Given the description of an element on the screen output the (x, y) to click on. 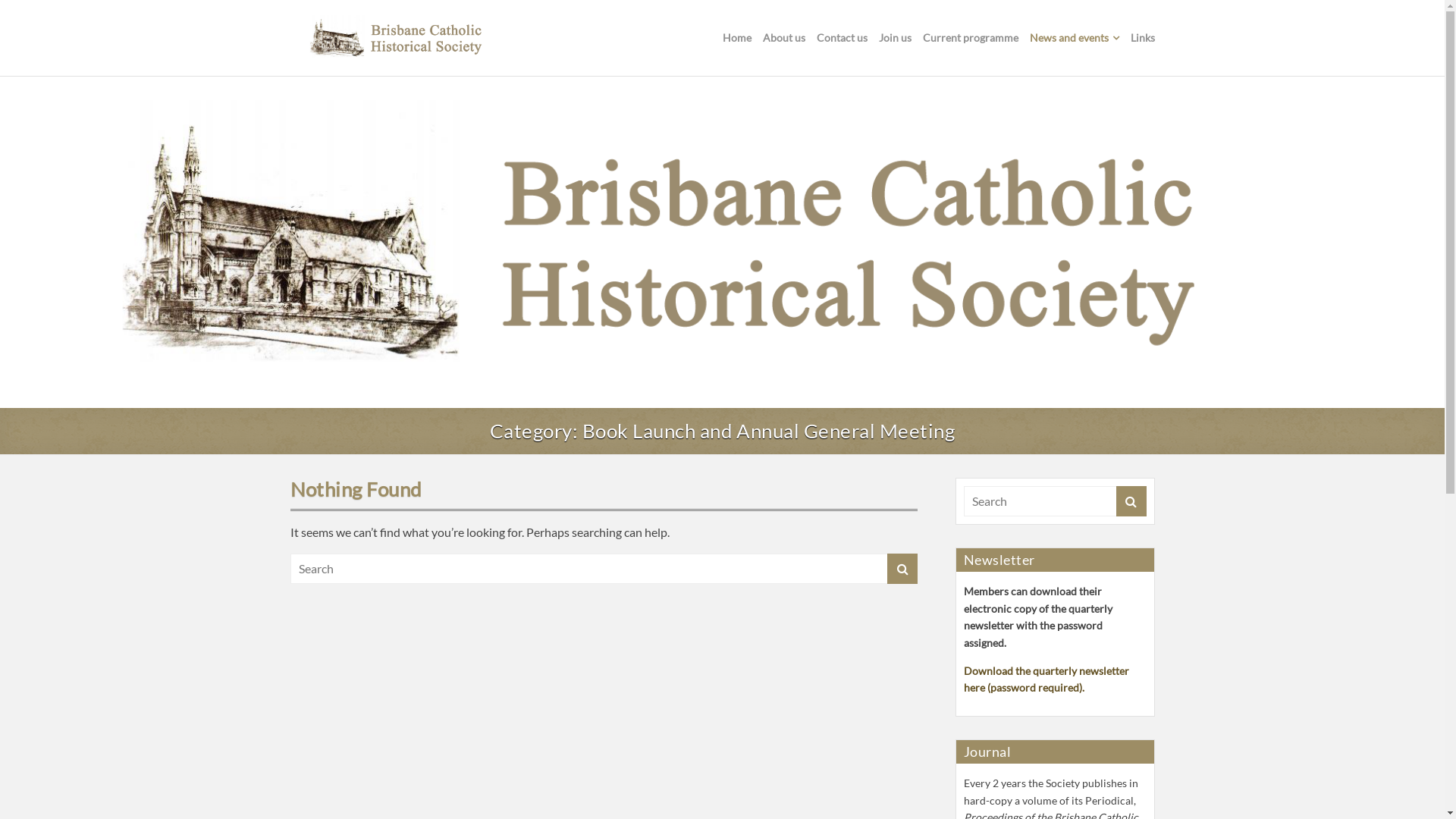
Skip to content Element type: text (0, 76)
Download the quarterly newsletter here (password required). Element type: text (1046, 678)
Contact us Element type: text (840, 37)
About us Element type: text (783, 37)
Join us Element type: text (894, 37)
Links Element type: text (1141, 37)
Home Element type: text (735, 37)
News and events Element type: text (1074, 37)
Current programme Element type: text (969, 37)
